Given the description of an element on the screen output the (x, y) to click on. 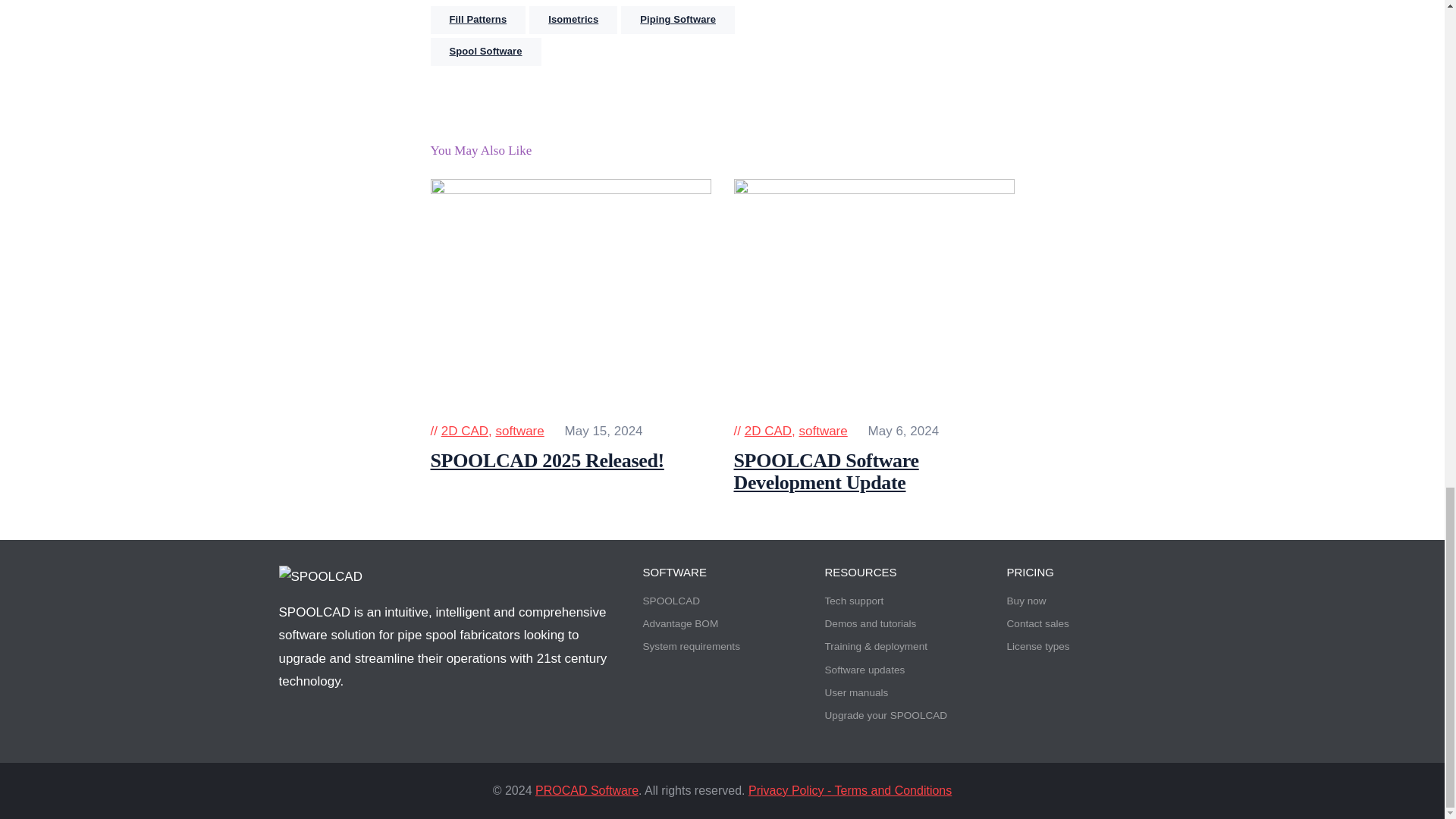
2D CAD (768, 431)
Fill Patterns (477, 19)
RESOURCES (904, 571)
System requirements (691, 645)
Isometrics (573, 19)
software (519, 431)
2D CAD (464, 431)
Spool Software (485, 51)
SPOOLCAD (671, 600)
Piping Software (678, 19)
Tech support (854, 600)
SPOOLCAD 2025 Released! (570, 461)
software (822, 431)
Advantage BOM (681, 623)
SPOOLCAD Software Development Update (873, 471)
